Given the description of an element on the screen output the (x, y) to click on. 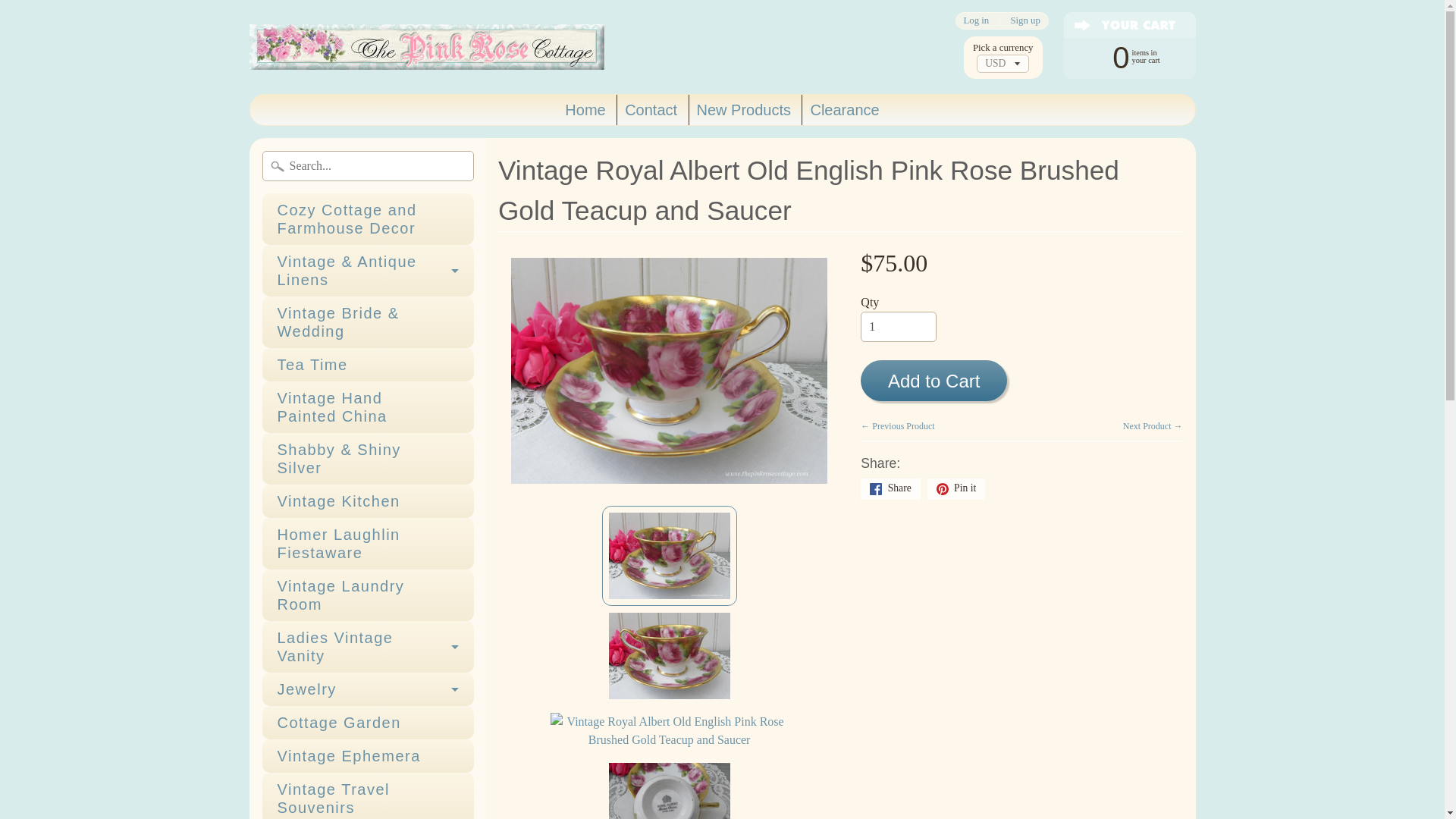
New Products (743, 110)
Sign up (1025, 20)
Clearance (844, 110)
1 (898, 327)
The Pink Rose Cottage  (426, 46)
Vintage Kitchen (368, 500)
Pin on Pinterest (956, 488)
Vintage Laundry Room (368, 594)
Share on Facebook (890, 488)
Log in (975, 20)
Ladies Vintage Vanity (368, 646)
Homer Laughlin Fiestaware (368, 543)
